Given the description of an element on the screen output the (x, y) to click on. 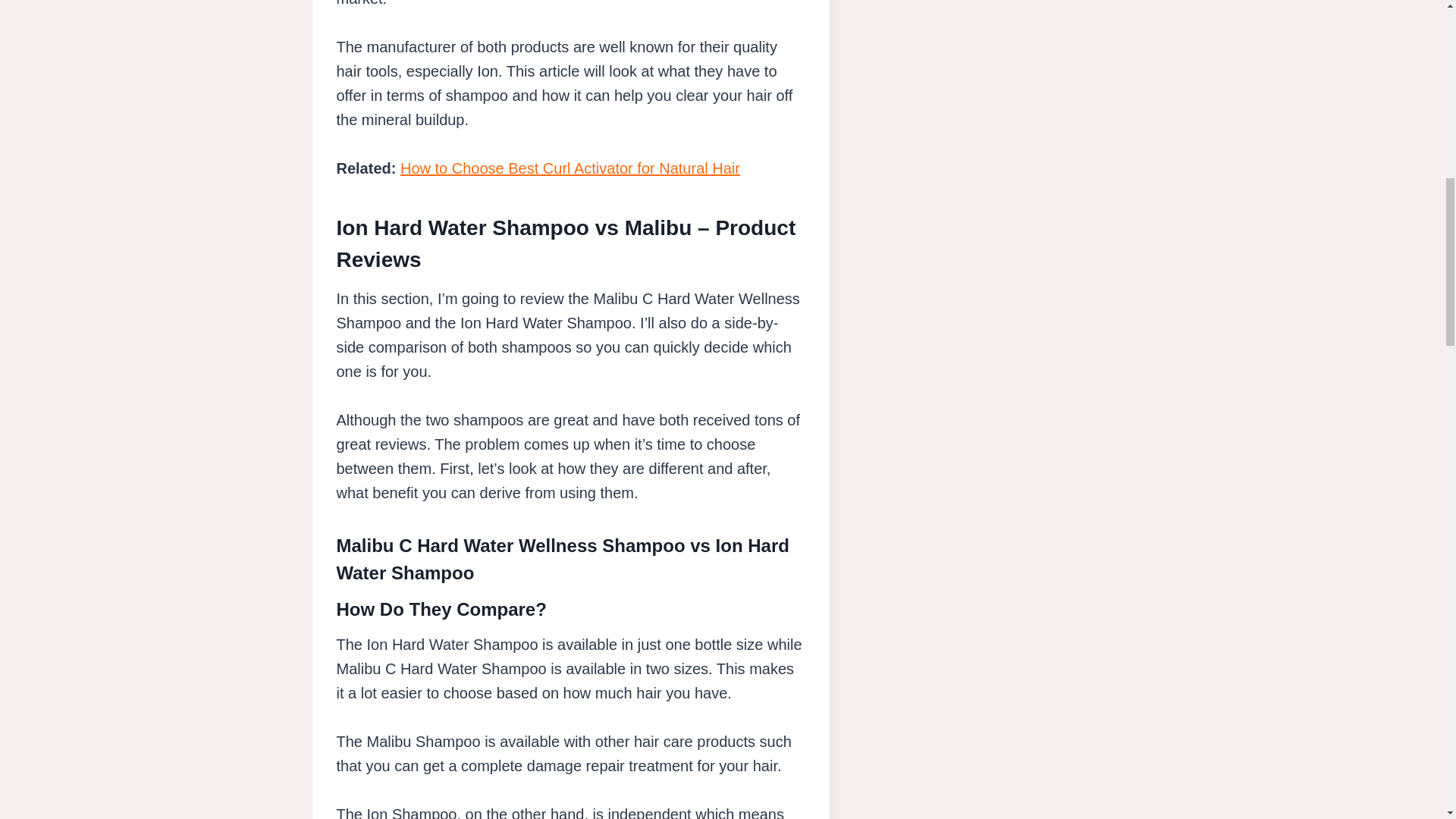
How to Choose Best Curl Activator for Natural Hair (569, 167)
